Given the description of an element on the screen output the (x, y) to click on. 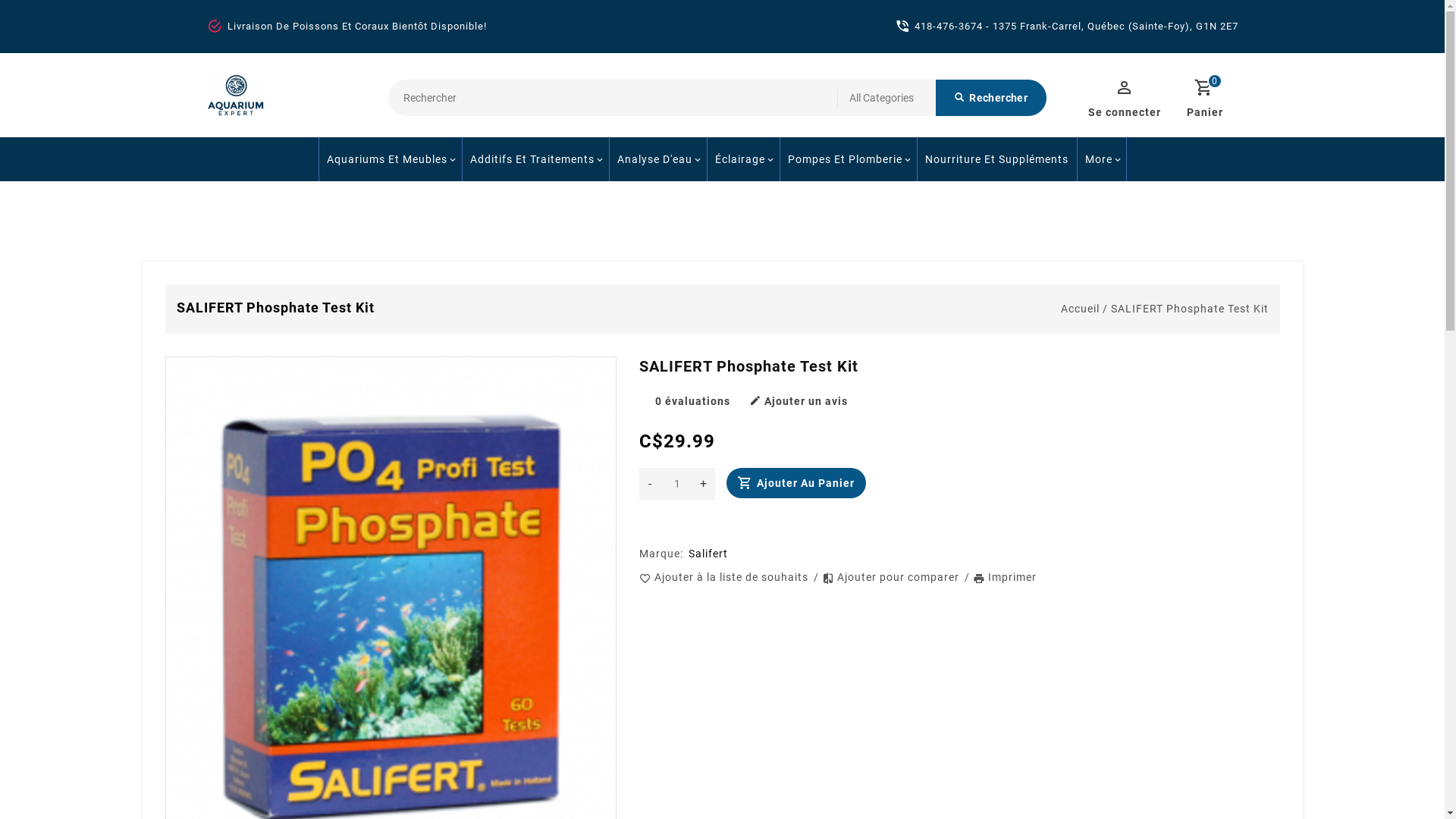
SALIFERT Phosphate Test Kit Element type: text (1188, 308)
Rechercher Element type: text (990, 97)
Ajouter Au Panier Element type: text (796, 482)
Imprimer Element type: text (1005, 577)
Pompes Et Plomberie Element type: text (847, 159)
Ajouter un avis Element type: text (798, 401)
Aquarium Expert Element type: hover (234, 95)
+ Element type: text (702, 483)
Aquariums Et Meubles Element type: text (389, 159)
Ajouter pour comparer Element type: text (893, 577)
Additifs Et Traitements Element type: text (534, 159)
Accueil Element type: text (1079, 308)
- Element type: text (649, 483)
Salifert Element type: text (706, 553)
Analyse D'Eau Element type: text (656, 159)
More Element type: text (1101, 159)
